Given the description of an element on the screen output the (x, y) to click on. 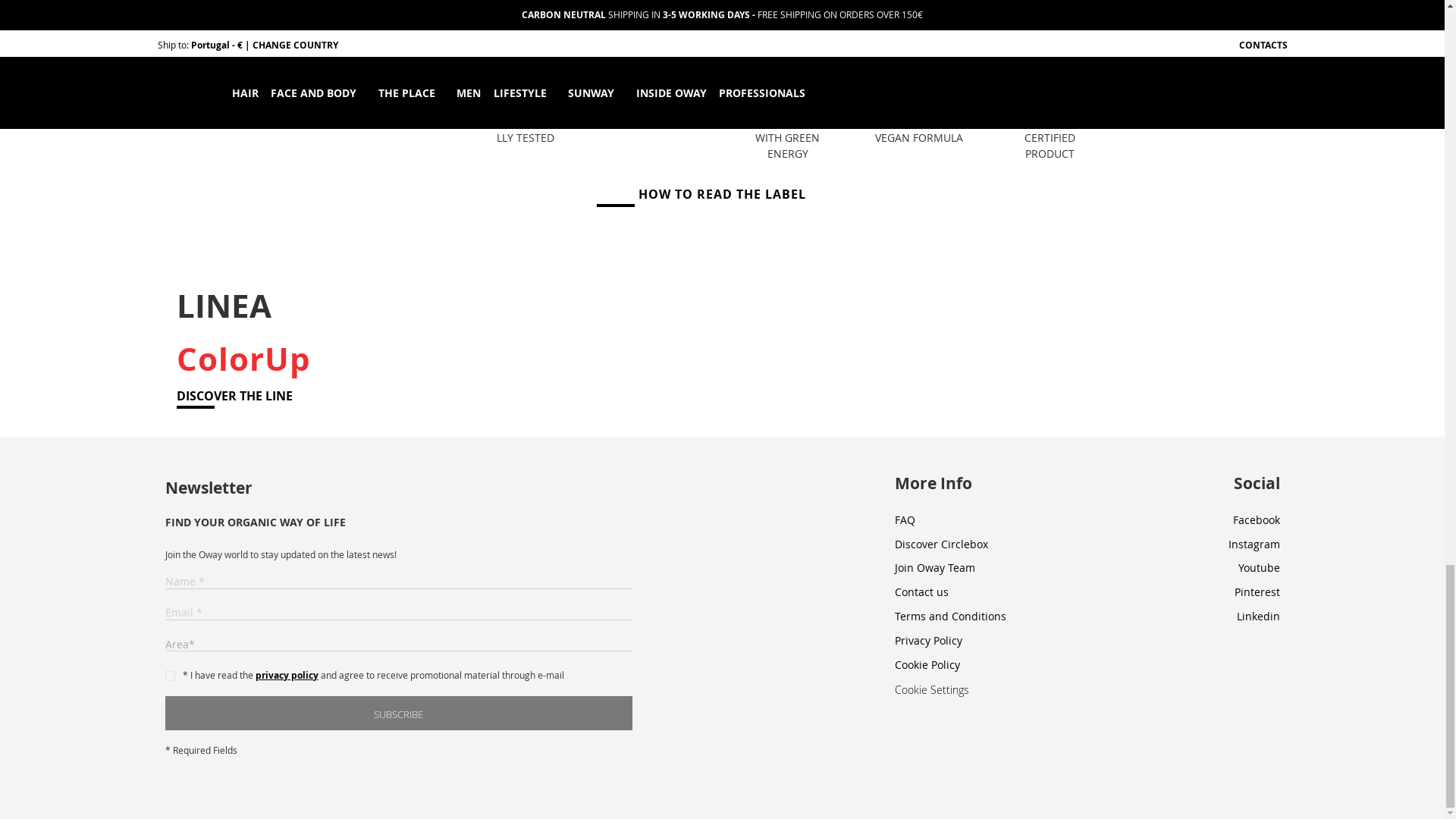
Subscribe (398, 713)
Discover the line (234, 395)
How to read the label (722, 194)
